Given the description of an element on the screen output the (x, y) to click on. 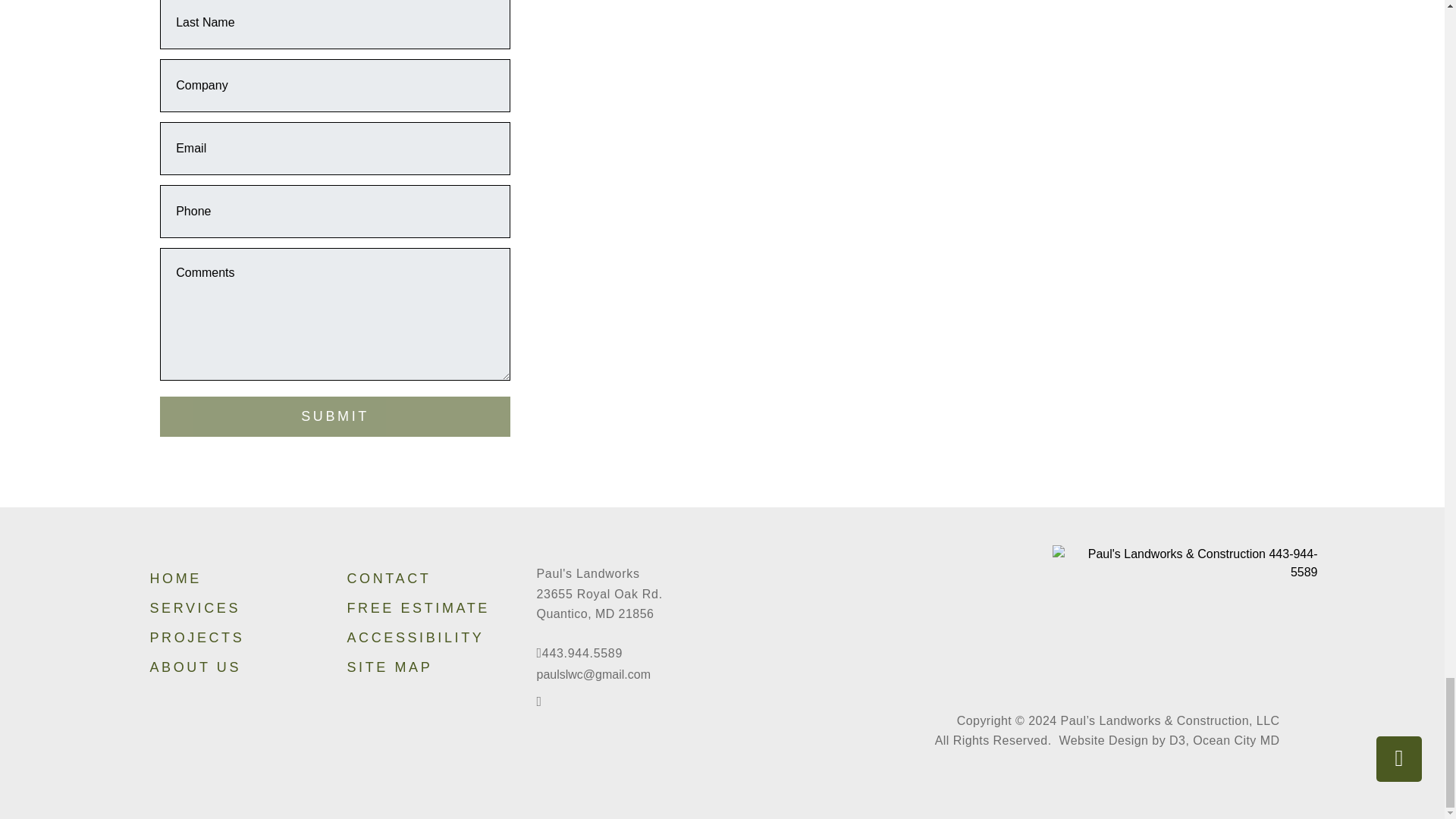
PROJECTS (229, 637)
CONTACT (426, 578)
SUBMIT (335, 415)
SERVICES (229, 608)
ABOUT US (229, 667)
FREE ESTIMATE (426, 608)
HOME (229, 578)
